Given the description of an element on the screen output the (x, y) to click on. 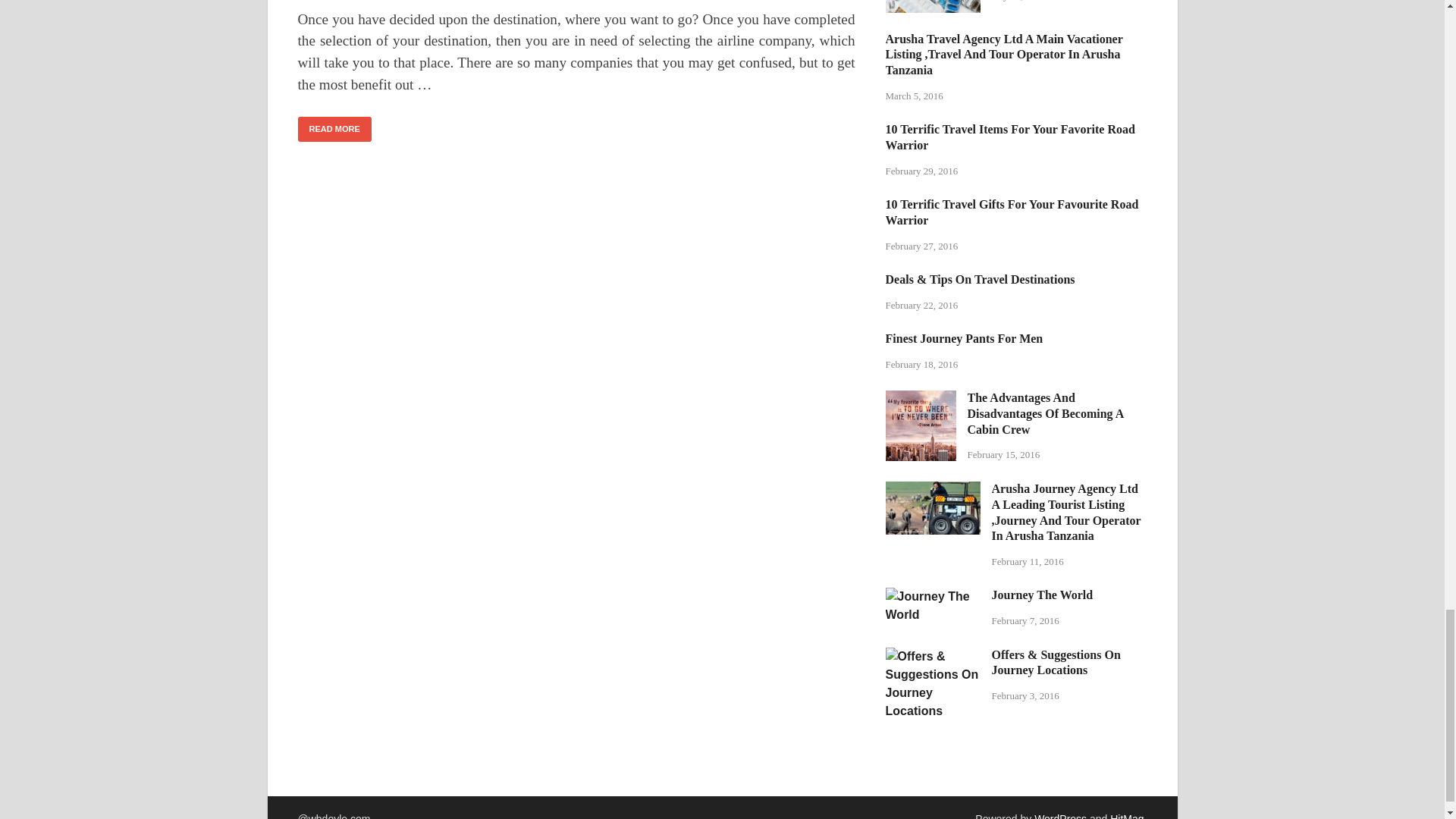
The Advantages And Disadvantages Of Becoming A Cabin Crew (920, 399)
Journey The World (932, 595)
